Given the description of an element on the screen output the (x, y) to click on. 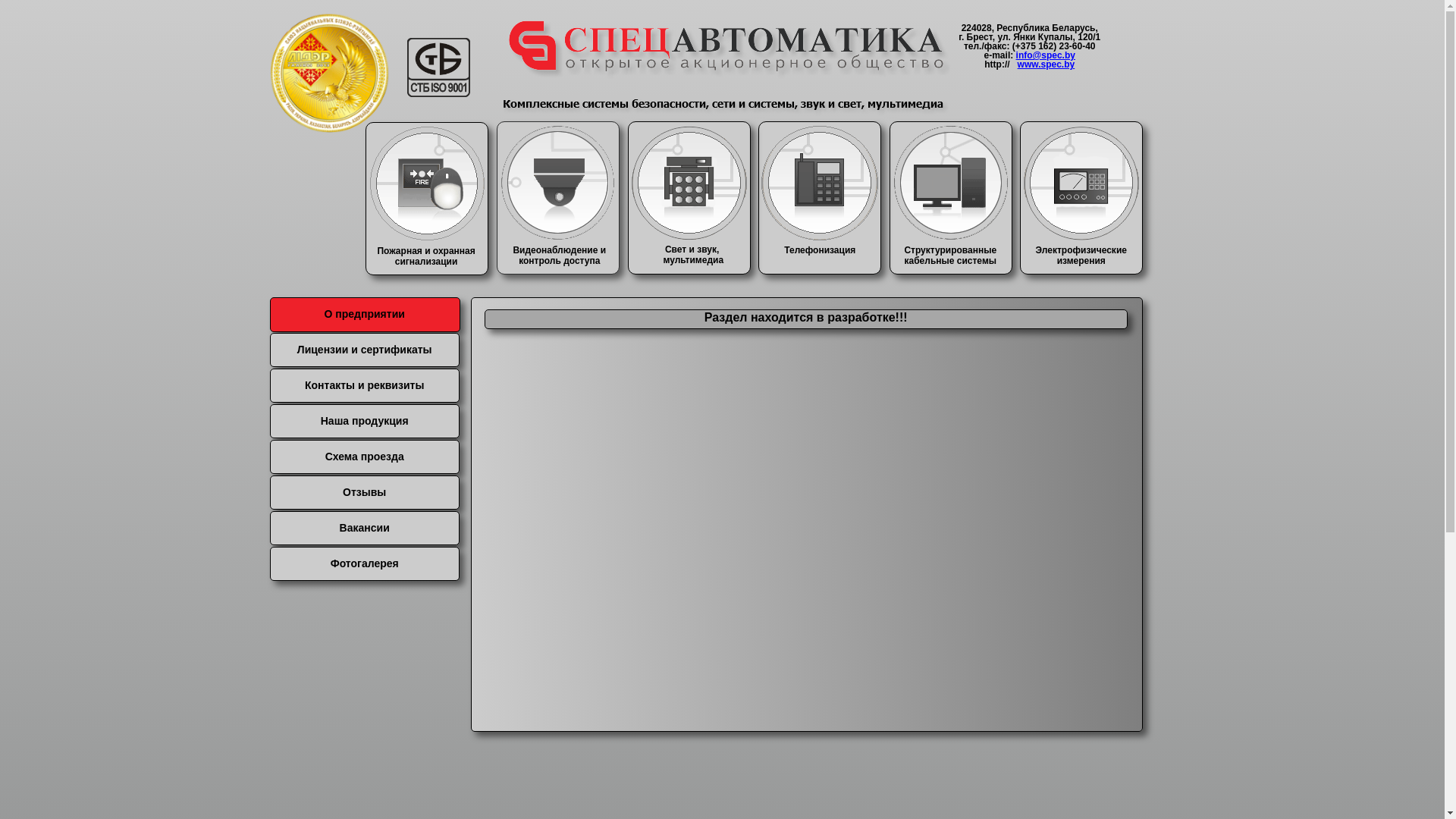
info@spec.by Element type: text (1045, 55)
www.spec.by Element type: text (1046, 64)
